Given the description of an element on the screen output the (x, y) to click on. 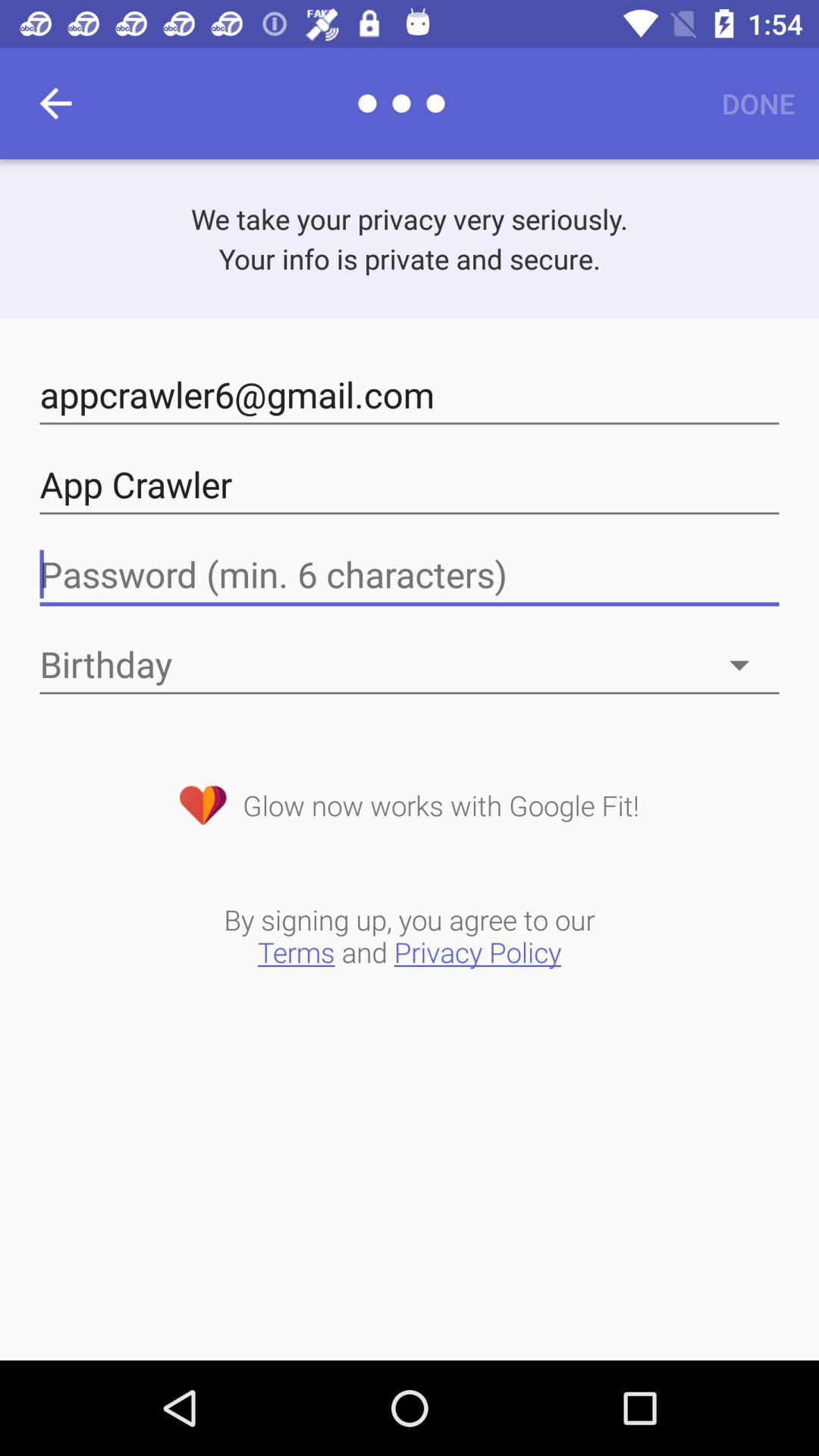
to add password in this space (409, 574)
